Given the description of an element on the screen output the (x, y) to click on. 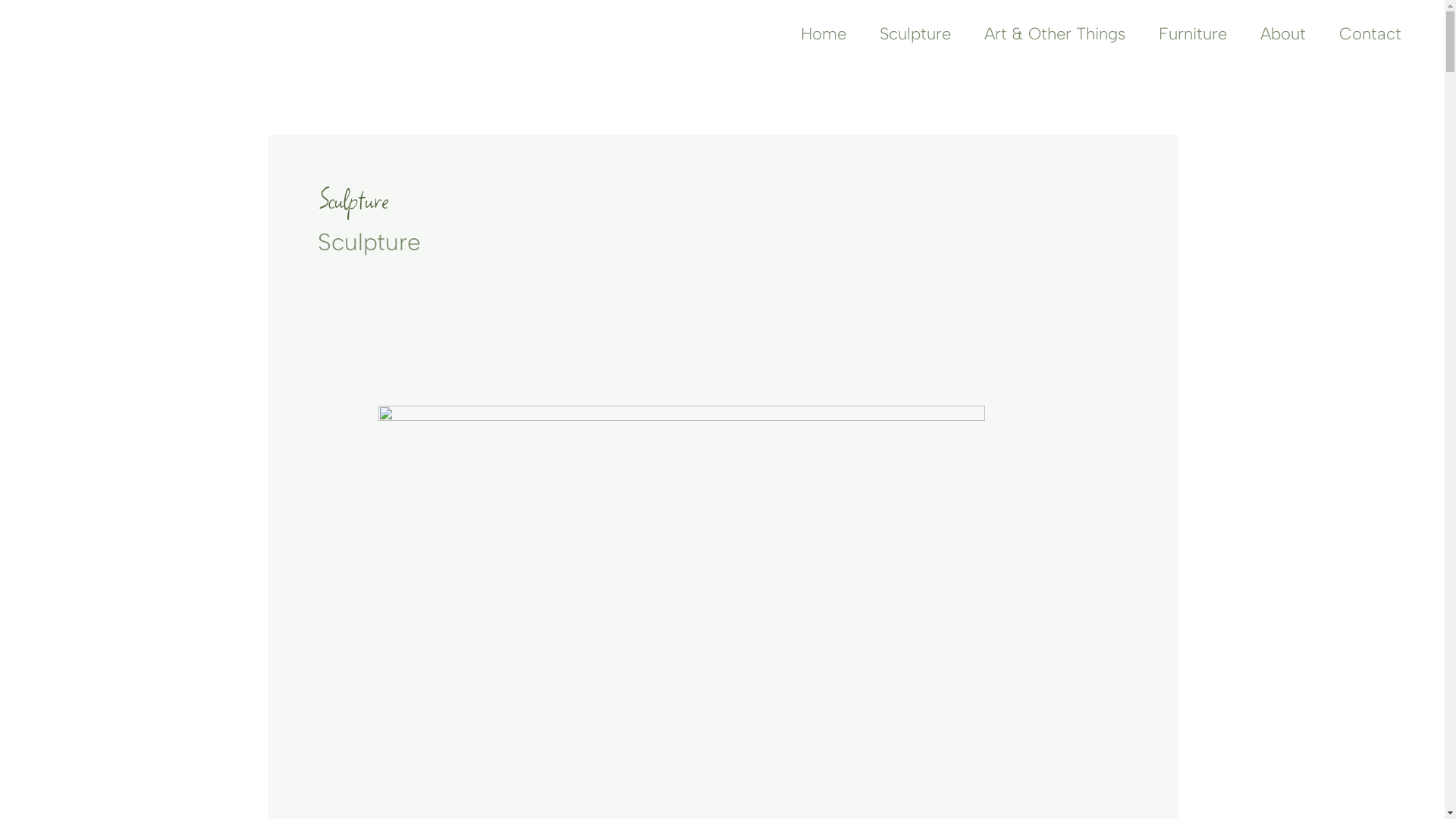
Home Element type: text (823, 33)
About Element type: text (1282, 33)
Sculpture Element type: text (914, 33)
Contact Element type: text (1370, 33)
Art & Other Things Element type: text (1054, 33)
Furniture Element type: text (1192, 33)
